Given the description of an element on the screen output the (x, y) to click on. 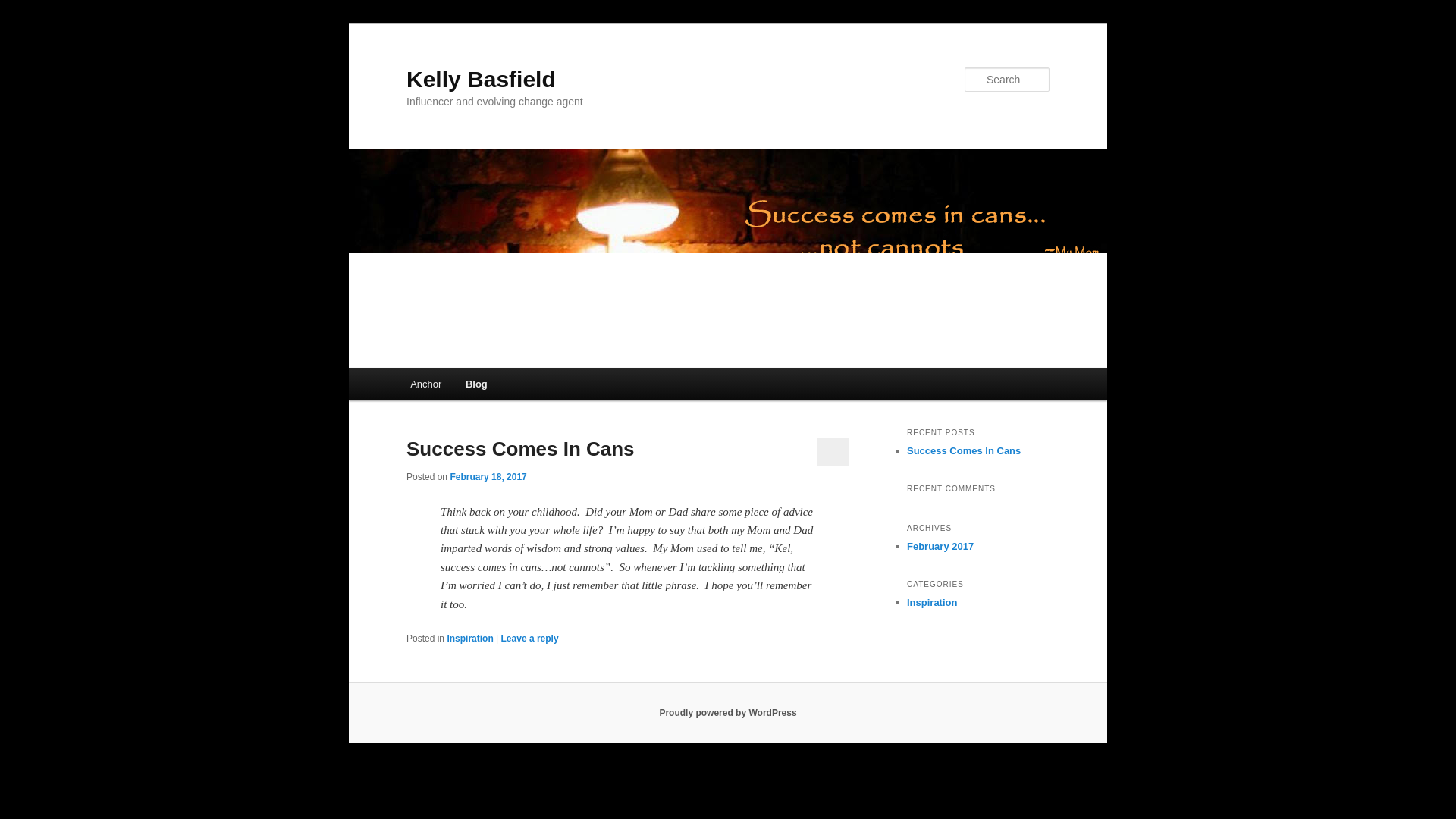
Anchor (424, 383)
Success Comes In Cans (963, 450)
Success Comes In Cans (520, 448)
February 2017 (940, 546)
Search (24, 8)
Inspiration (931, 602)
Leave a reply (529, 638)
Inspiration (931, 602)
6:27 pm (487, 476)
Inspiration (469, 638)
Kelly Basfield (481, 78)
Proudly powered by WordPress (727, 712)
February 18, 2017 (487, 476)
Semantic Personal Publishing Platform (727, 712)
